Given the description of an element on the screen output the (x, y) to click on. 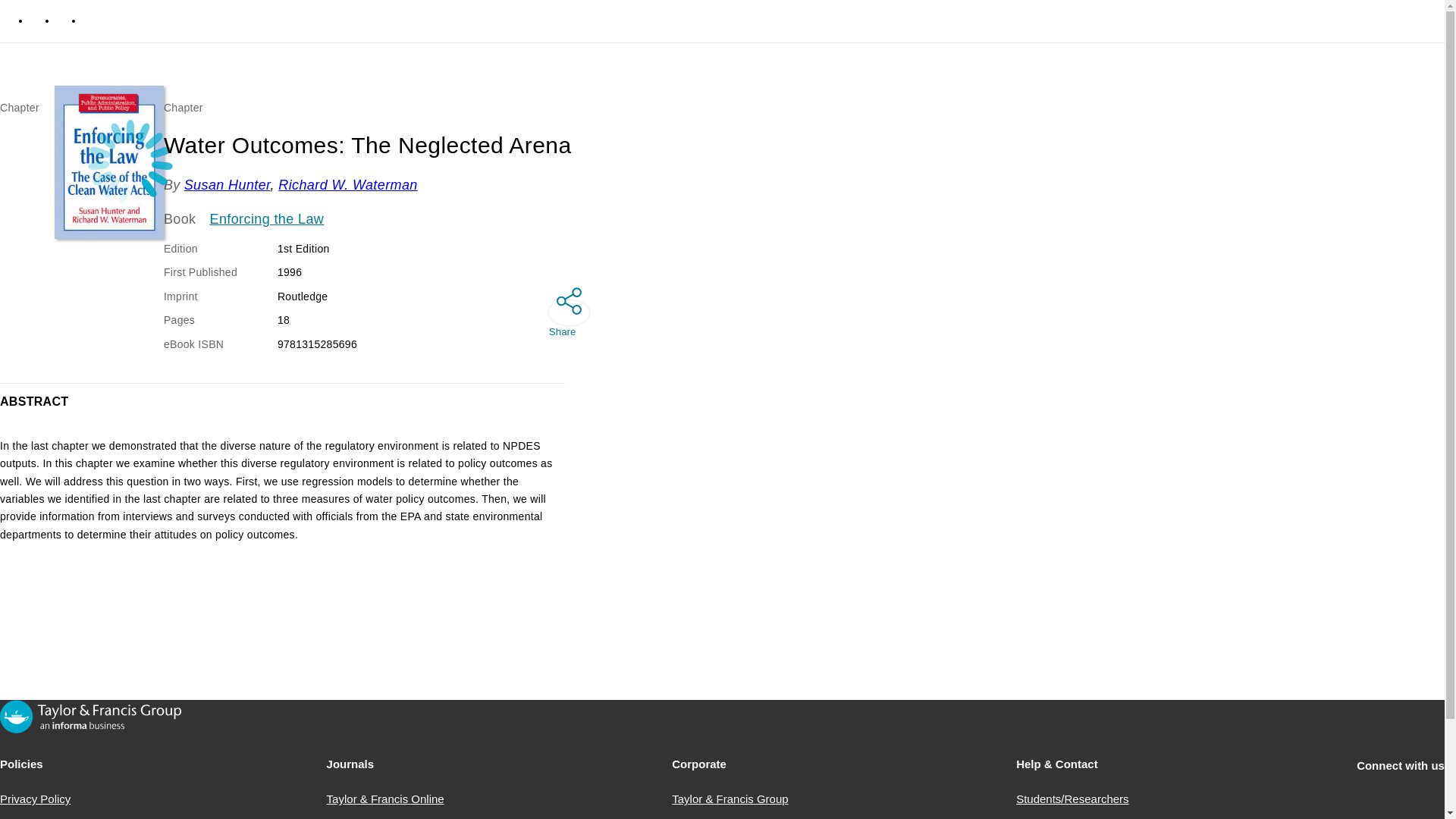
Richard W. Waterman (347, 184)
Susan Hunter (227, 184)
Privacy Policy (34, 798)
Enforcing the Law (266, 219)
